Given the description of an element on the screen output the (x, y) to click on. 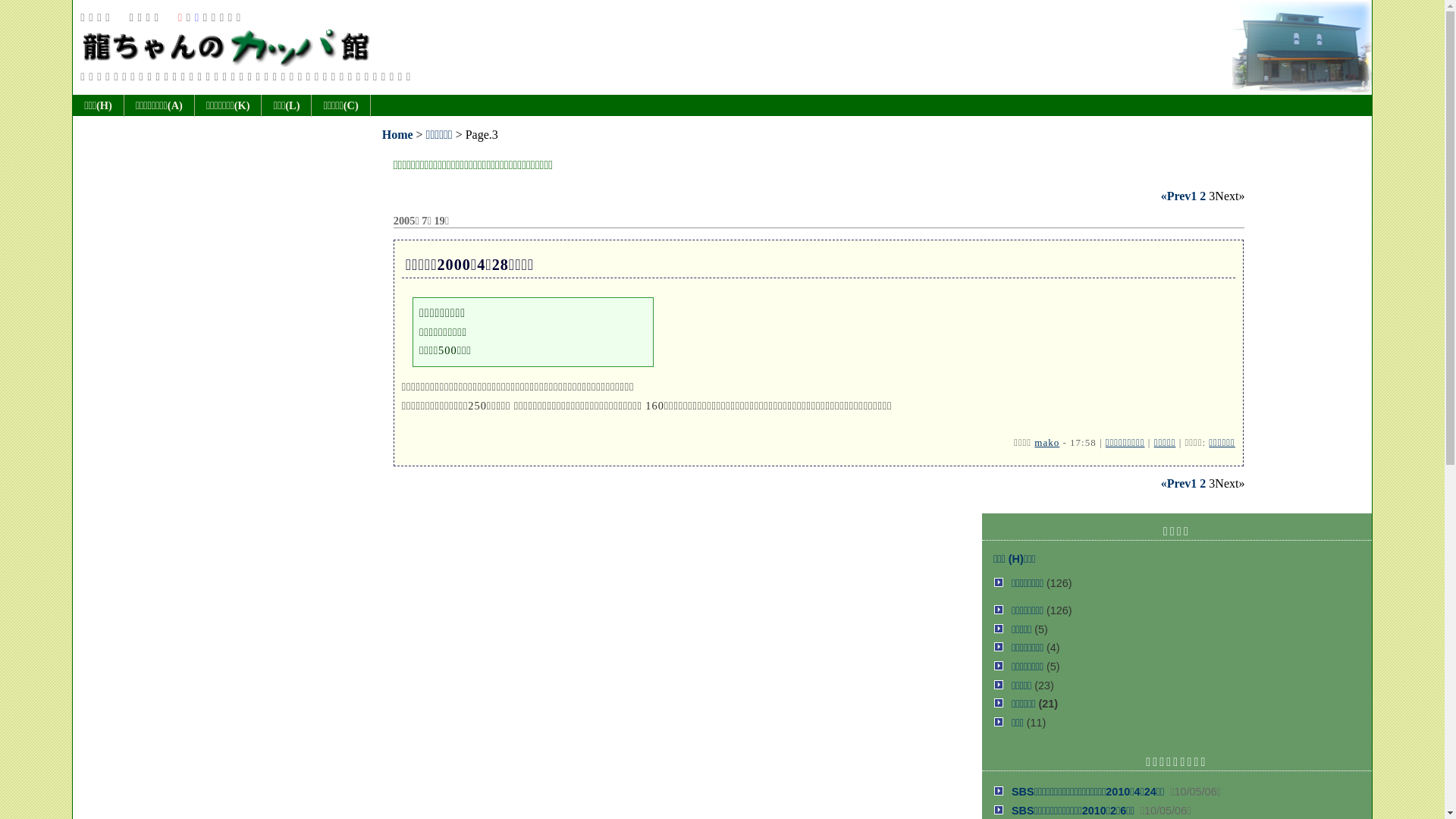
2 Element type: text (1202, 195)
Home Element type: text (397, 134)
mako Element type: text (1046, 442)
1 Element type: text (1193, 482)
2 Element type: text (1202, 482)
1 Element type: text (1193, 195)
